Given the description of an element on the screen output the (x, y) to click on. 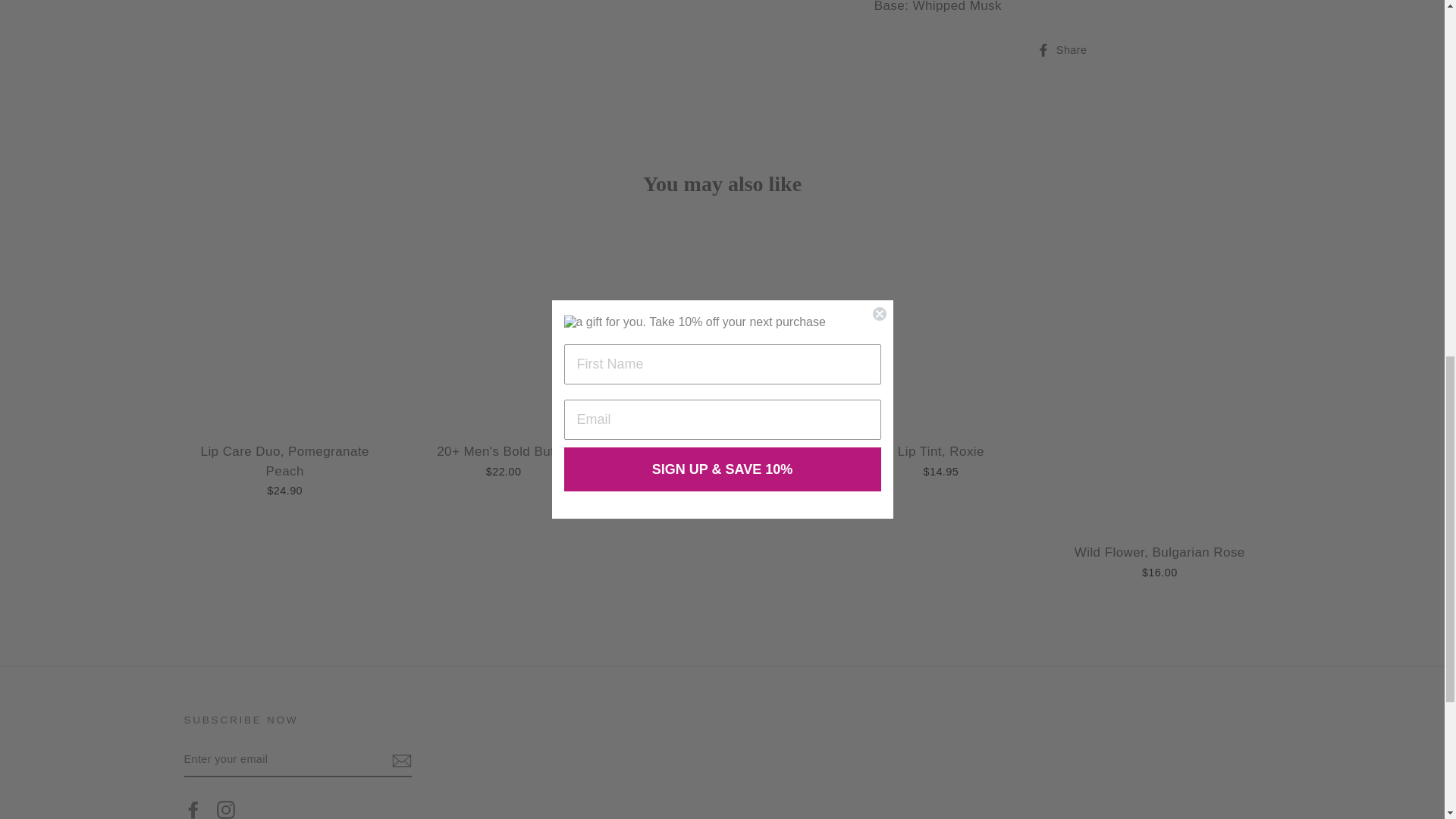
the Paisley Pearl on Instagram (225, 809)
Share on Facebook (1067, 49)
the Paisley Pearl on Facebook (192, 809)
